Given the description of an element on the screen output the (x, y) to click on. 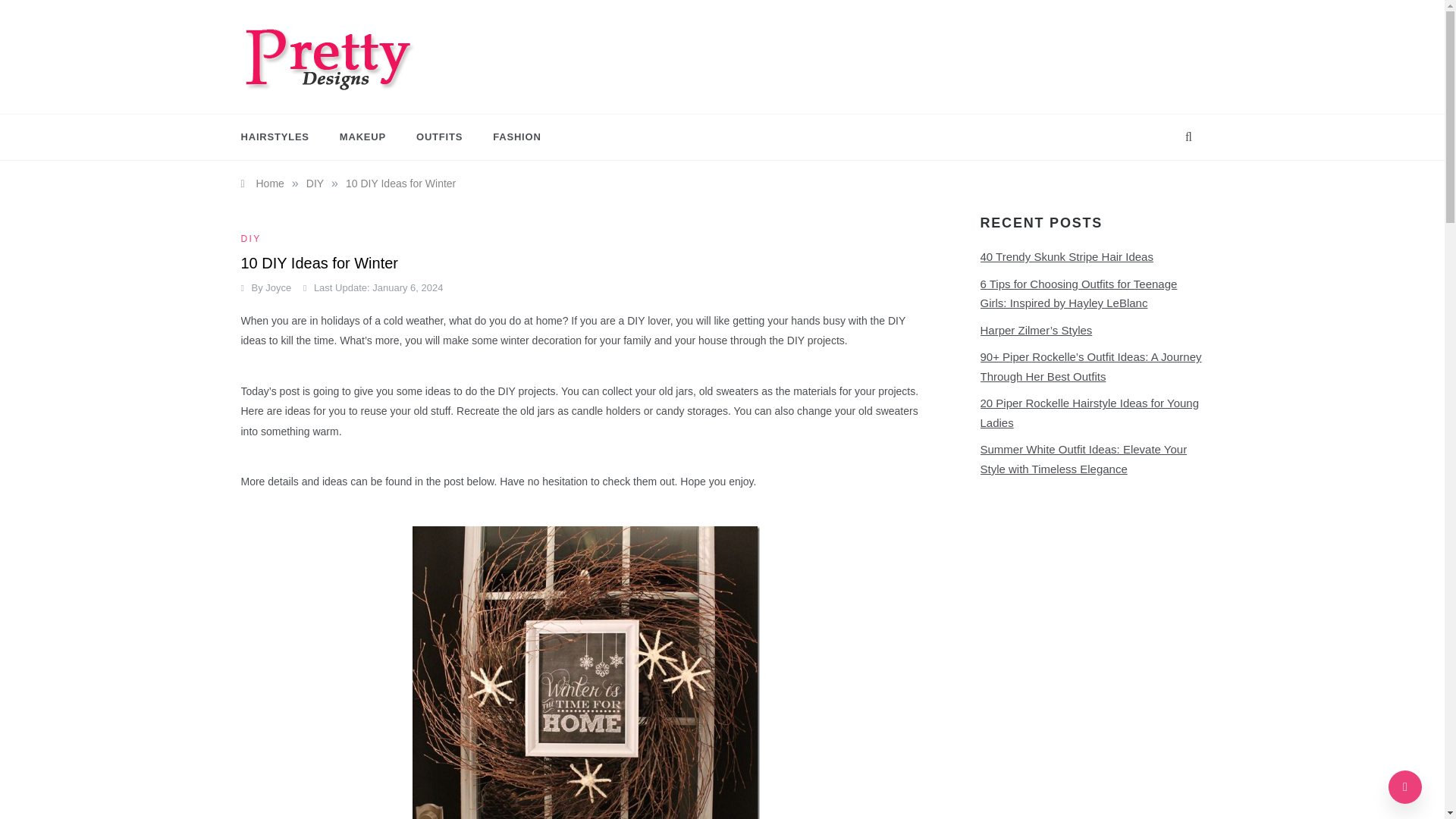
OUTFITS (439, 136)
HAIRSTYLES (282, 136)
10 DIY Ideas for Winter (400, 183)
DIY (314, 183)
Home (262, 183)
DIY (252, 238)
Joyce (277, 287)
Go to Top (1405, 786)
MAKEUP (362, 136)
Pretty Designs (313, 102)
